Given the description of an element on the screen output the (x, y) to click on. 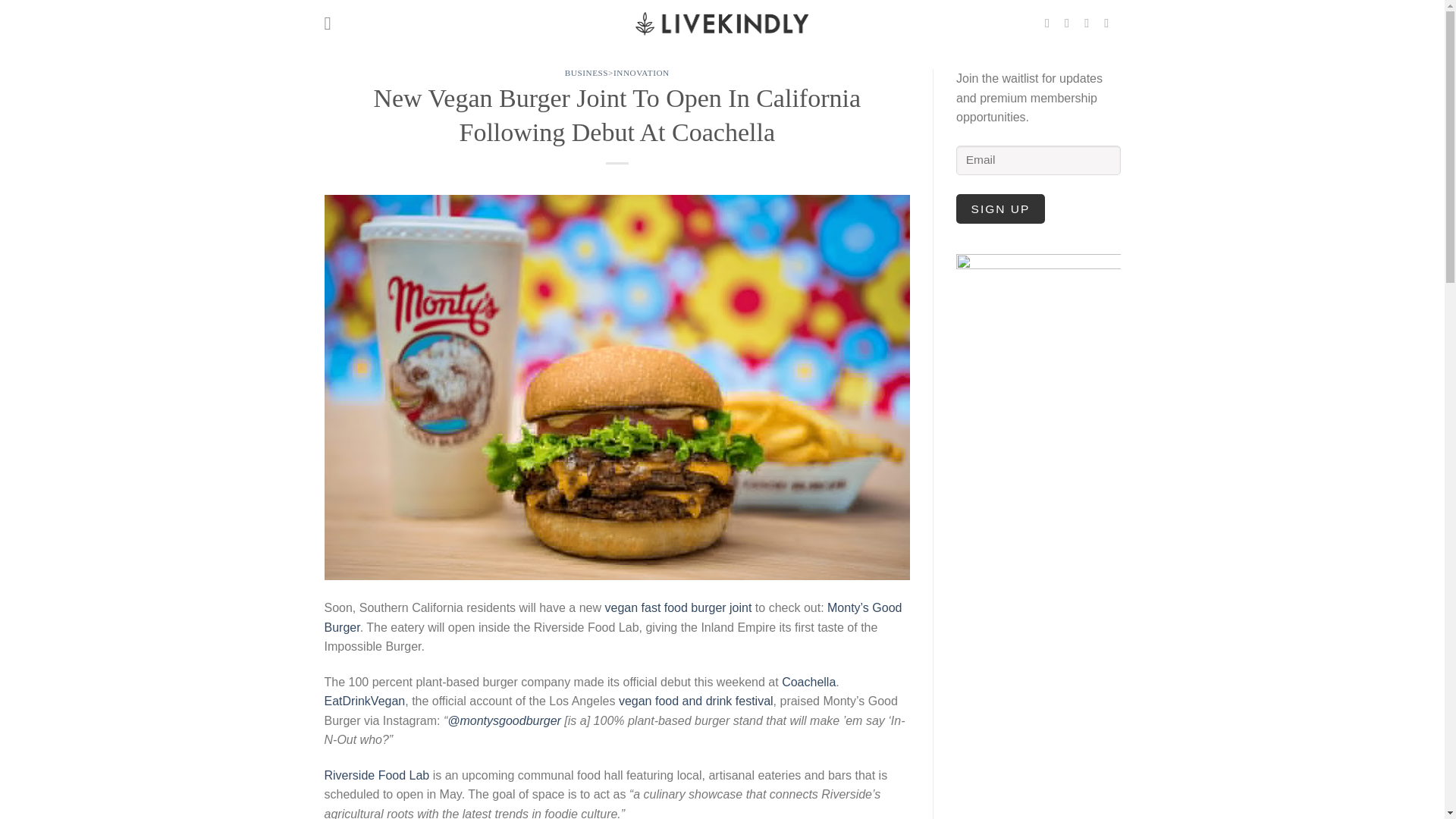
Follow on Instagram (1070, 22)
EatDrinkVegan (365, 700)
Follow on Facebook (1051, 22)
INNOVATION (640, 71)
vegan fast food burger joint (676, 607)
SIGN UP (1000, 208)
Follow on LinkedIn (1109, 22)
Riverside Food Lab (376, 775)
LIVEKINDLY - Home of Sustainable Living (721, 22)
BUSINESS (586, 71)
vegan food and drink festival (695, 700)
Coachella (808, 681)
Follow on TikTok (1090, 22)
